Given the description of an element on the screen output the (x, y) to click on. 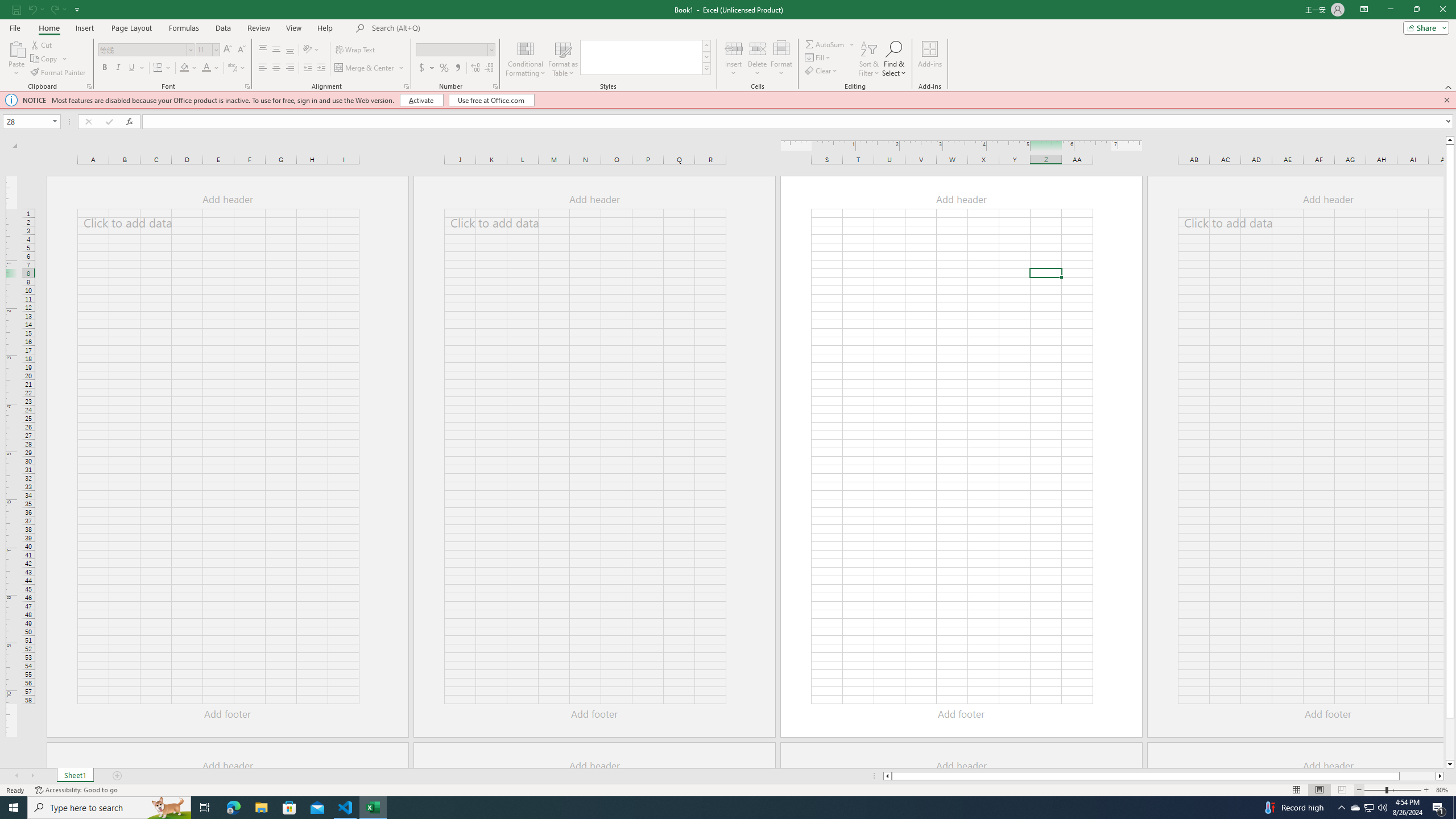
Comma Style (457, 67)
Fill Color (183, 67)
Bold (104, 67)
Format Painter (58, 72)
Align Right (290, 67)
Align Left (262, 67)
Close this message (1446, 99)
